Given the description of an element on the screen output the (x, y) to click on. 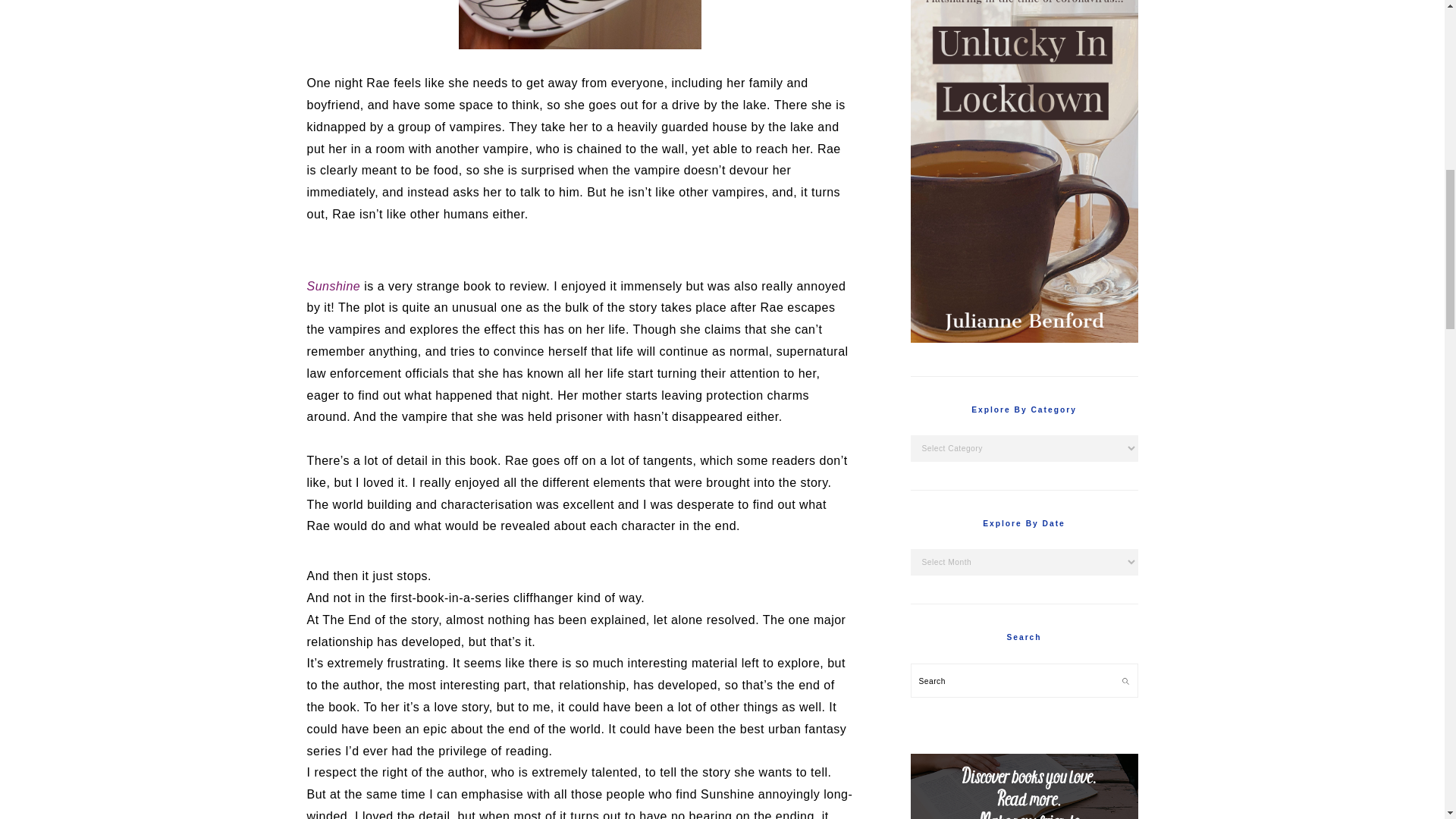
Sunshine (332, 286)
